Given the description of an element on the screen output the (x, y) to click on. 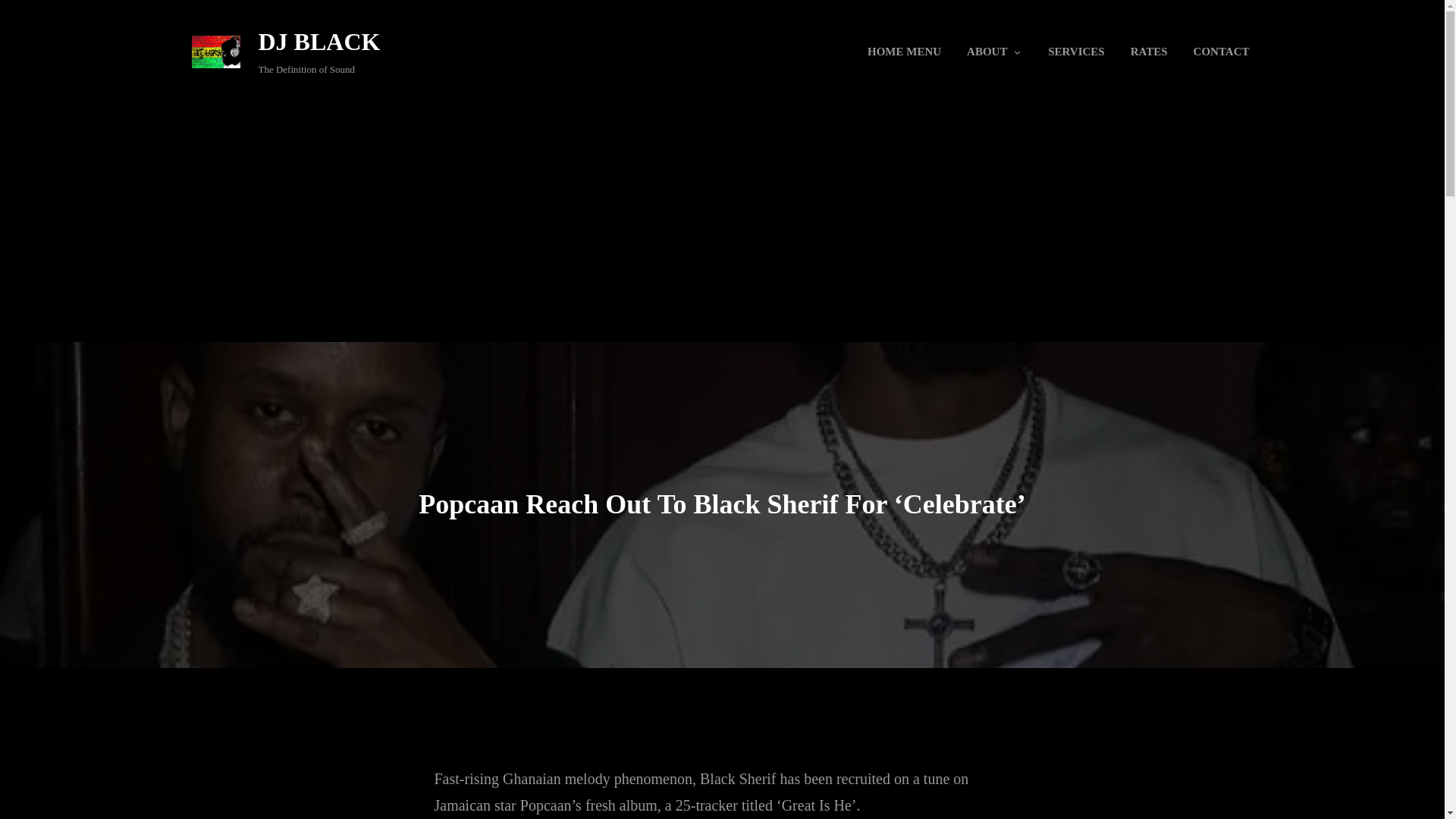
CONTACT (1221, 51)
SERVICES (1075, 51)
HOME MENU (903, 51)
ABOUT (986, 51)
RATES (1149, 51)
DJ BLACK (318, 41)
